Given the description of an element on the screen output the (x, y) to click on. 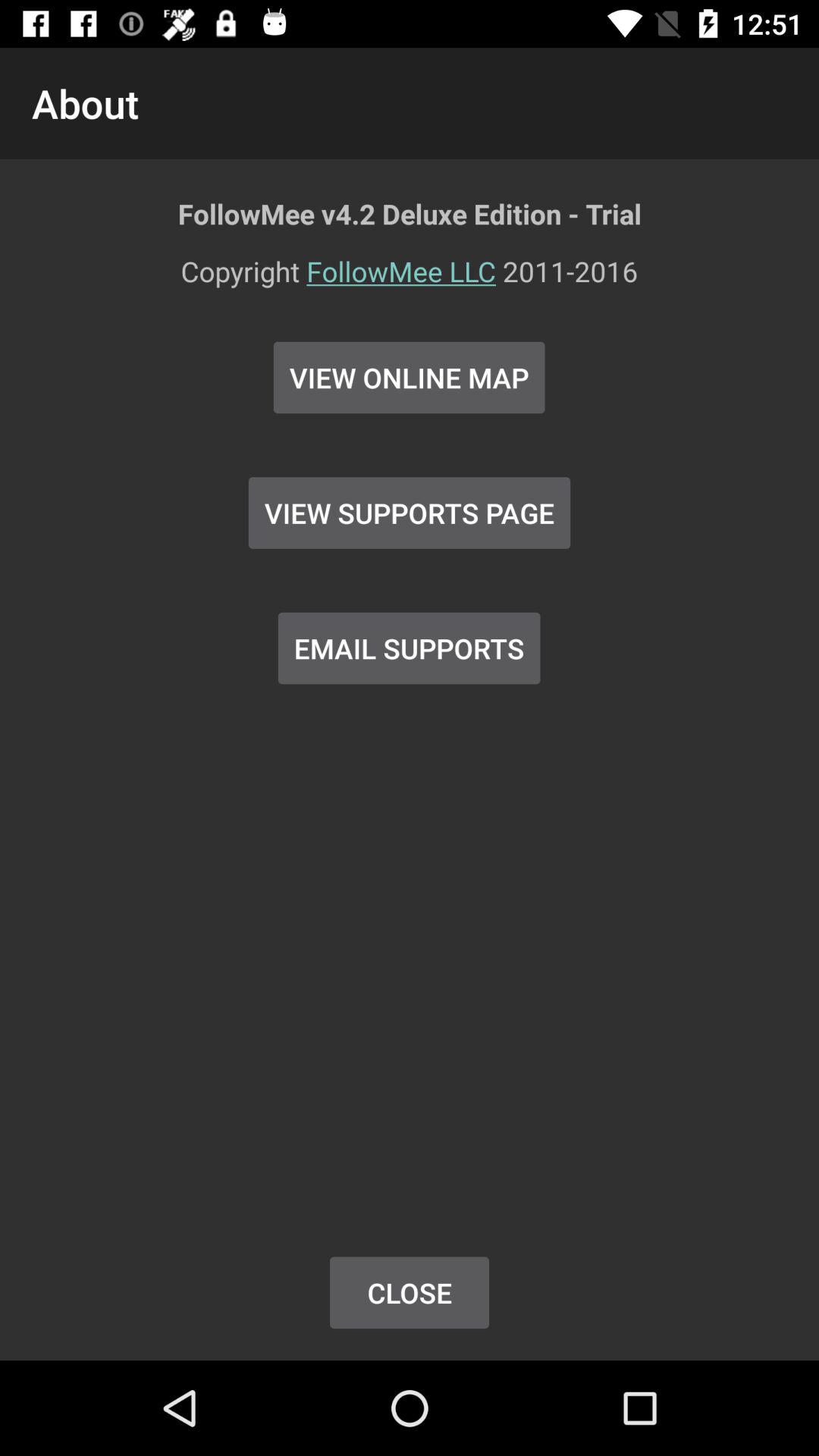
jump until email supports button (409, 648)
